Given the description of an element on the screen output the (x, y) to click on. 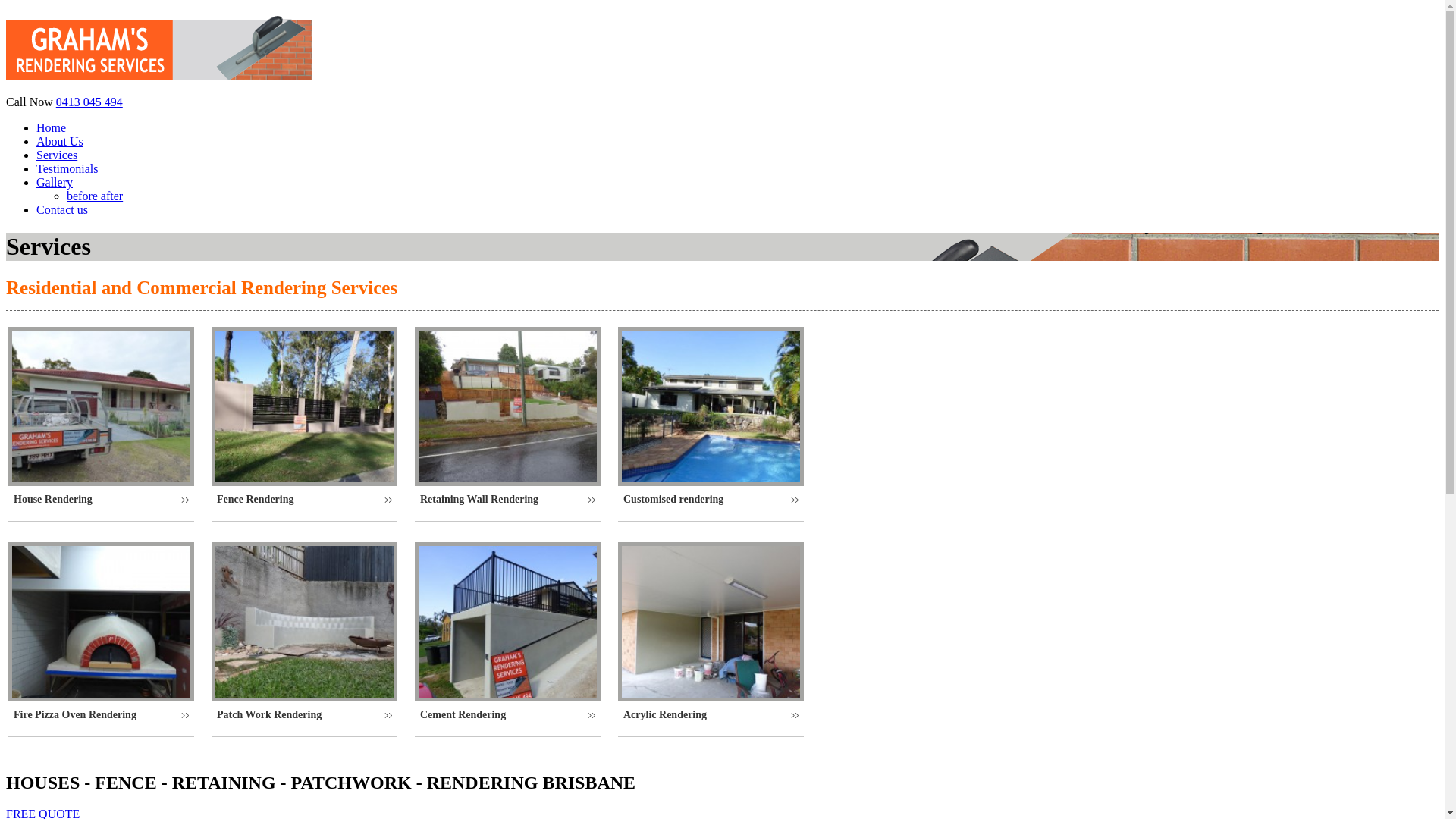
Gallery Element type: text (54, 181)
Home Element type: text (50, 127)
Testimonials Element type: text (67, 168)
0413 045 494 Element type: text (89, 101)
House Rendering Element type: text (100, 499)
Patch Work Rendering Element type: text (304, 715)
before after Element type: text (94, 195)
Customised rendering Element type: text (710, 499)
About Us Element type: text (59, 140)
Contact us Element type: text (61, 209)
Retaining Wall Rendering Element type: text (507, 499)
Cement Rendering Element type: text (507, 715)
Fire Pizza Oven Rendering Element type: text (100, 715)
Acrylic Rendering Element type: text (710, 715)
Fence Rendering Element type: text (304, 499)
Services Element type: text (56, 154)
